Given the description of an element on the screen output the (x, y) to click on. 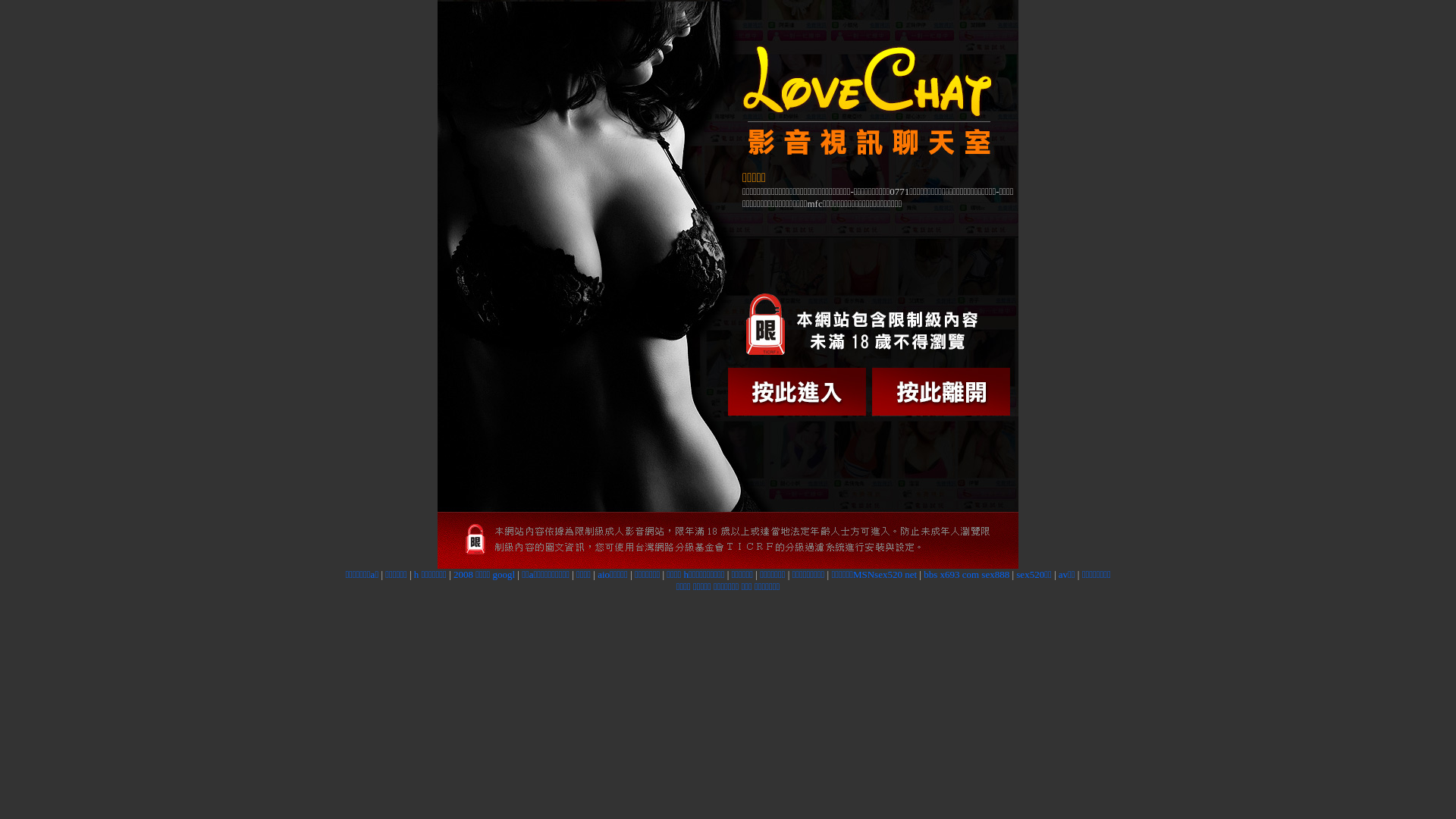
sex520 net Element type: text (895, 574)
bbs x693 com sex888 Element type: text (966, 574)
